Given the description of an element on the screen output the (x, y) to click on. 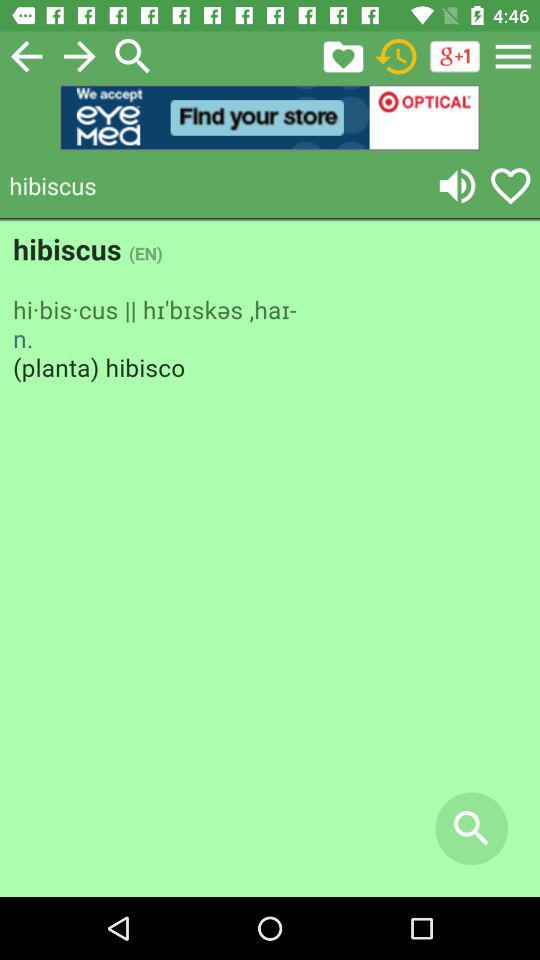
refresh (396, 56)
